Given the description of an element on the screen output the (x, y) to click on. 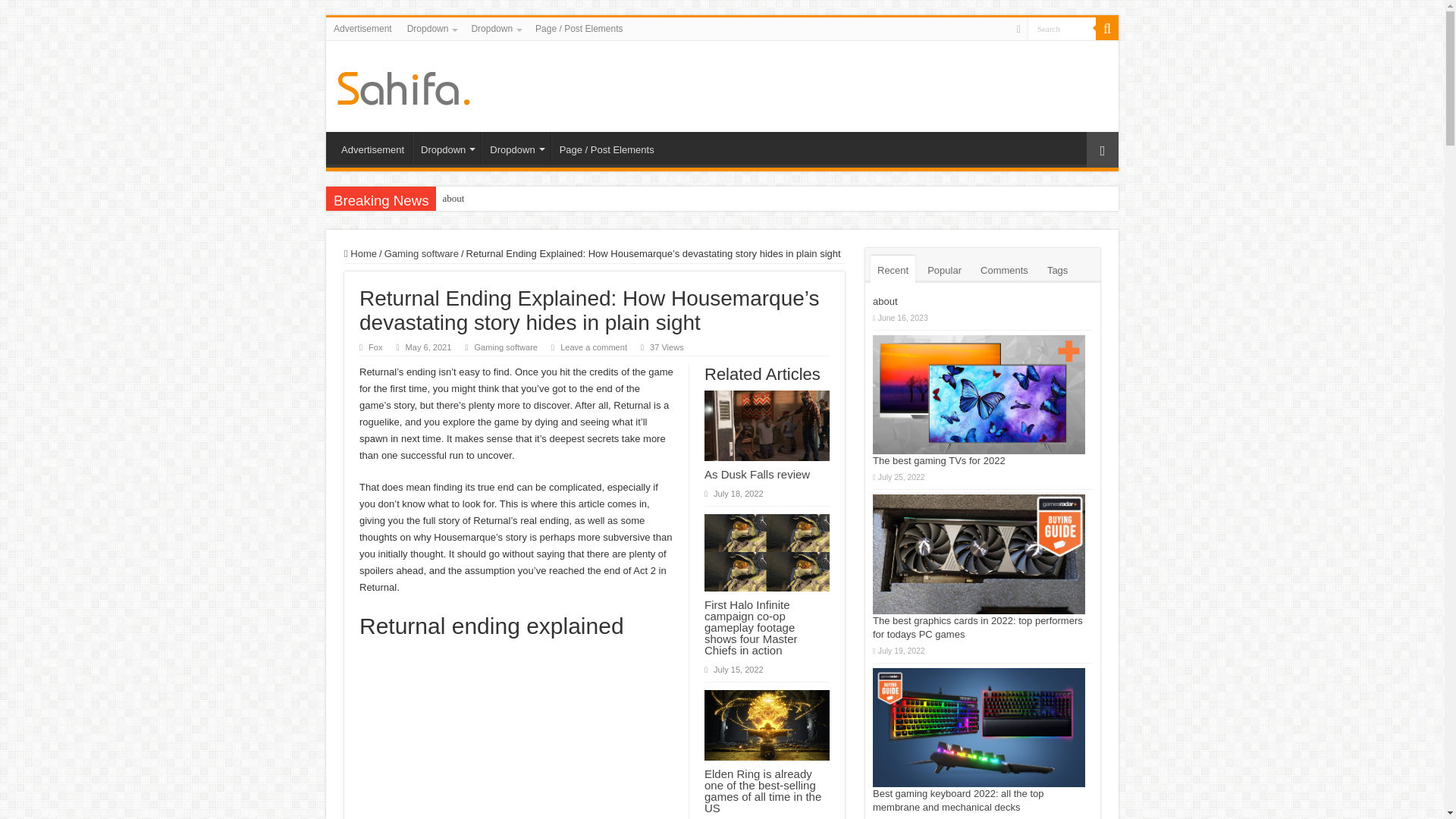
Search (1061, 28)
Advertisement (362, 28)
Search (1061, 28)
Dropdown (495, 28)
Game News (403, 85)
Advertisement (372, 147)
about (452, 198)
Dropdown (431, 28)
Search (1107, 28)
Search (1061, 28)
Dropdown (446, 147)
